Given the description of an element on the screen output the (x, y) to click on. 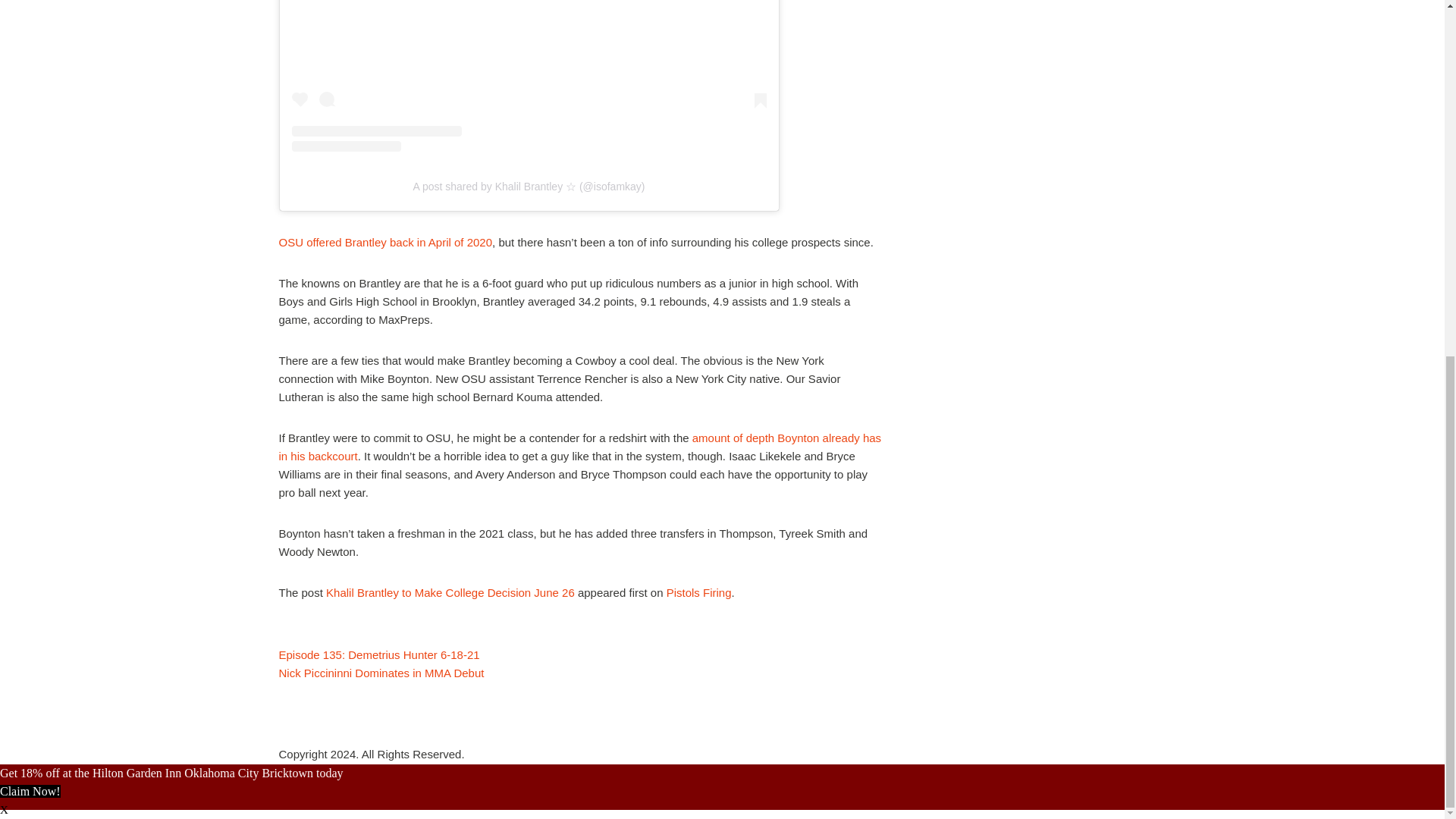
amount of depth Boynton already has in his backcourt (580, 446)
Claim Now! (30, 790)
OSU offered Brantley back in April of 2020 (386, 241)
Nick Piccininni Dominates in MMA Debut (381, 672)
Pistols Firing (699, 592)
Episode 135: Demetrius Hunter 6-18-21 (379, 654)
Khalil Brantley to Make College Decision June 26 (450, 592)
View this post on Instagram (528, 75)
